Given the description of an element on the screen output the (x, y) to click on. 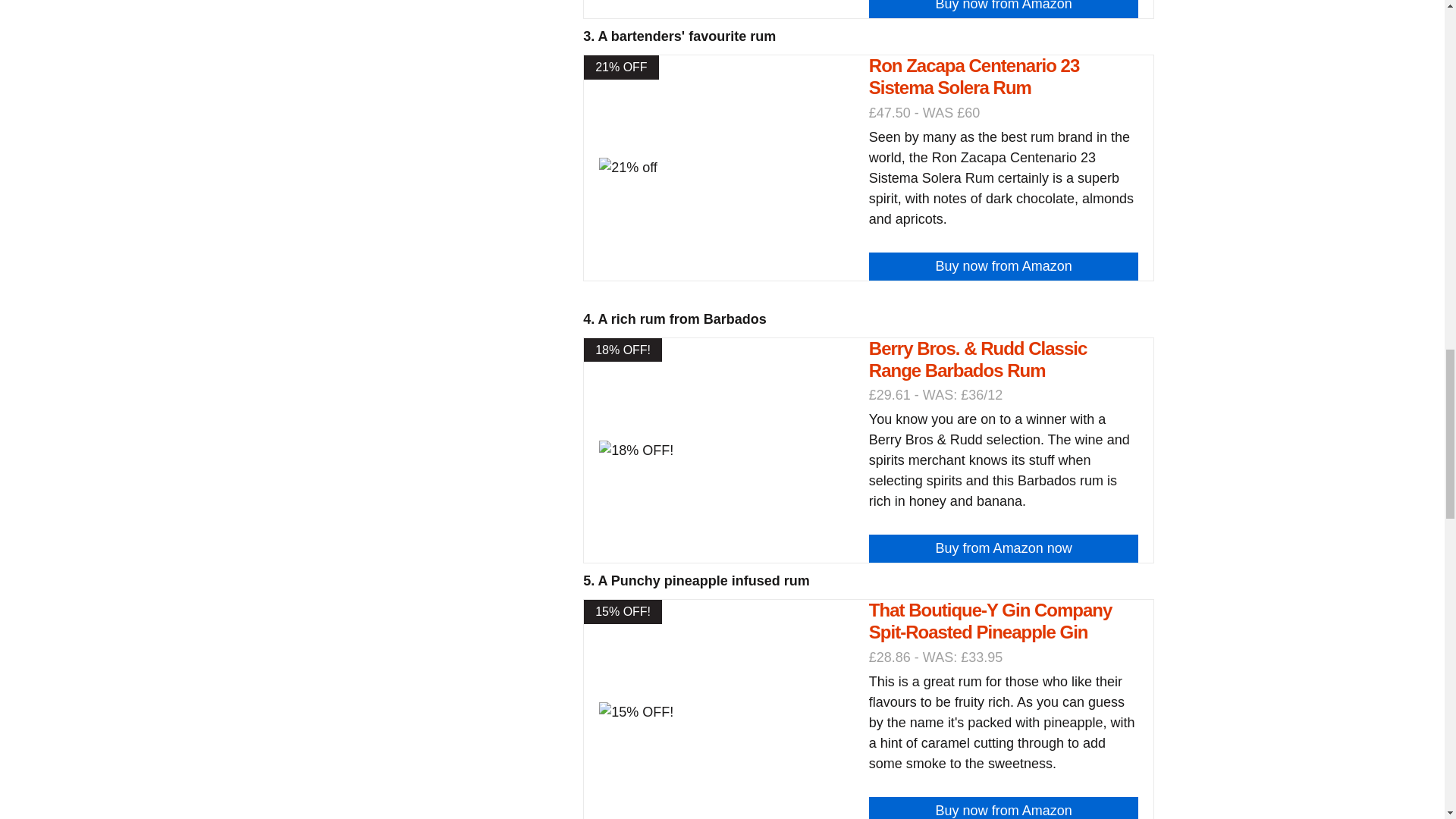
Buy now from Amazon (1003, 266)
Buy now from Amazon (1003, 807)
Buy now from Amazon (1003, 9)
Buy from Amazon now (1003, 548)
